Given the description of an element on the screen output the (x, y) to click on. 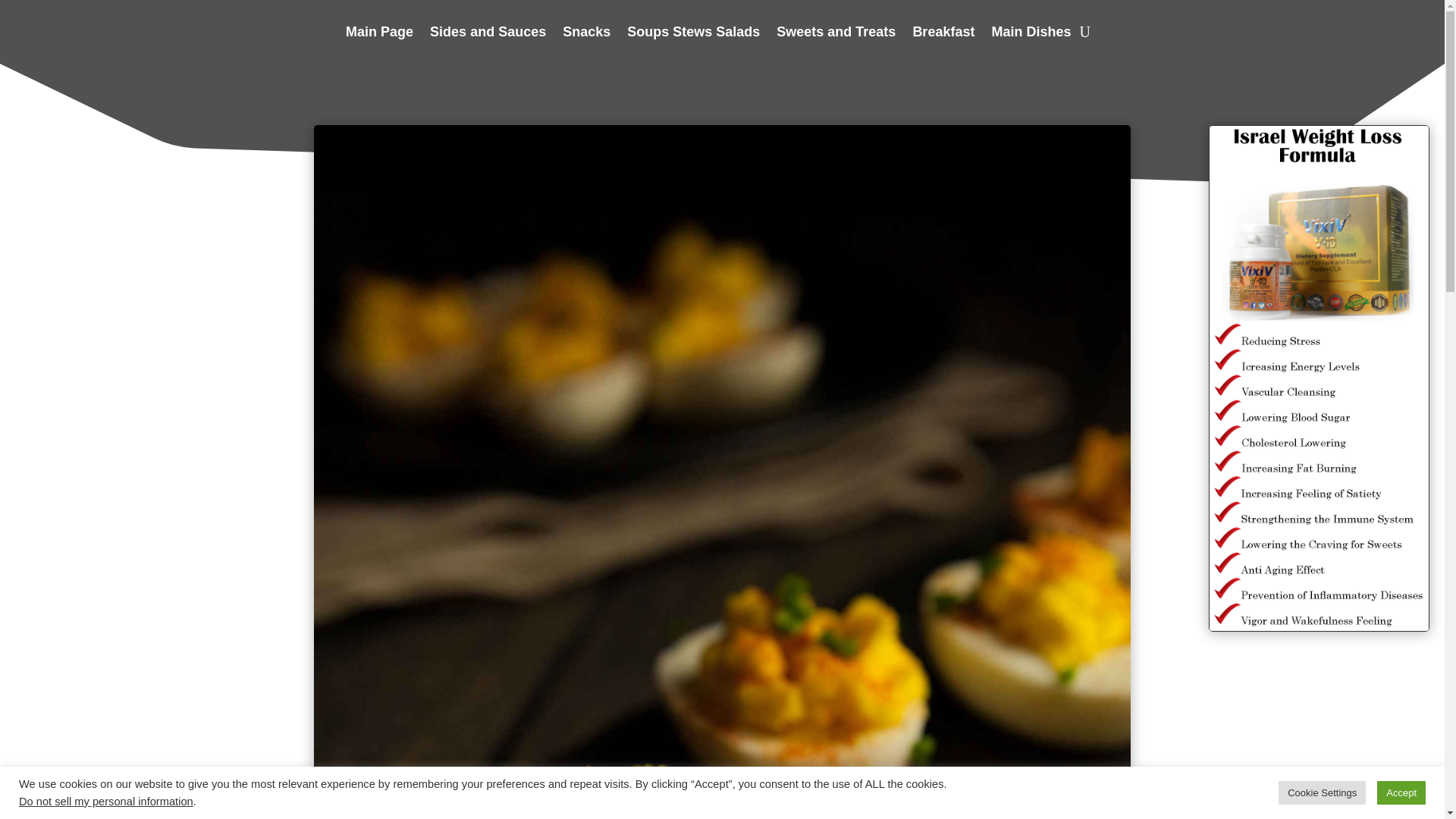
Accept (1401, 792)
Main Dishes (1030, 34)
Advertisement (167, 753)
Soups Stews Salads (693, 34)
Sides and Sauces (487, 34)
Breakfast (943, 34)
Cookie Settings (1321, 792)
Main Page (379, 34)
Snacks (586, 34)
